Given the description of an element on the screen output the (x, y) to click on. 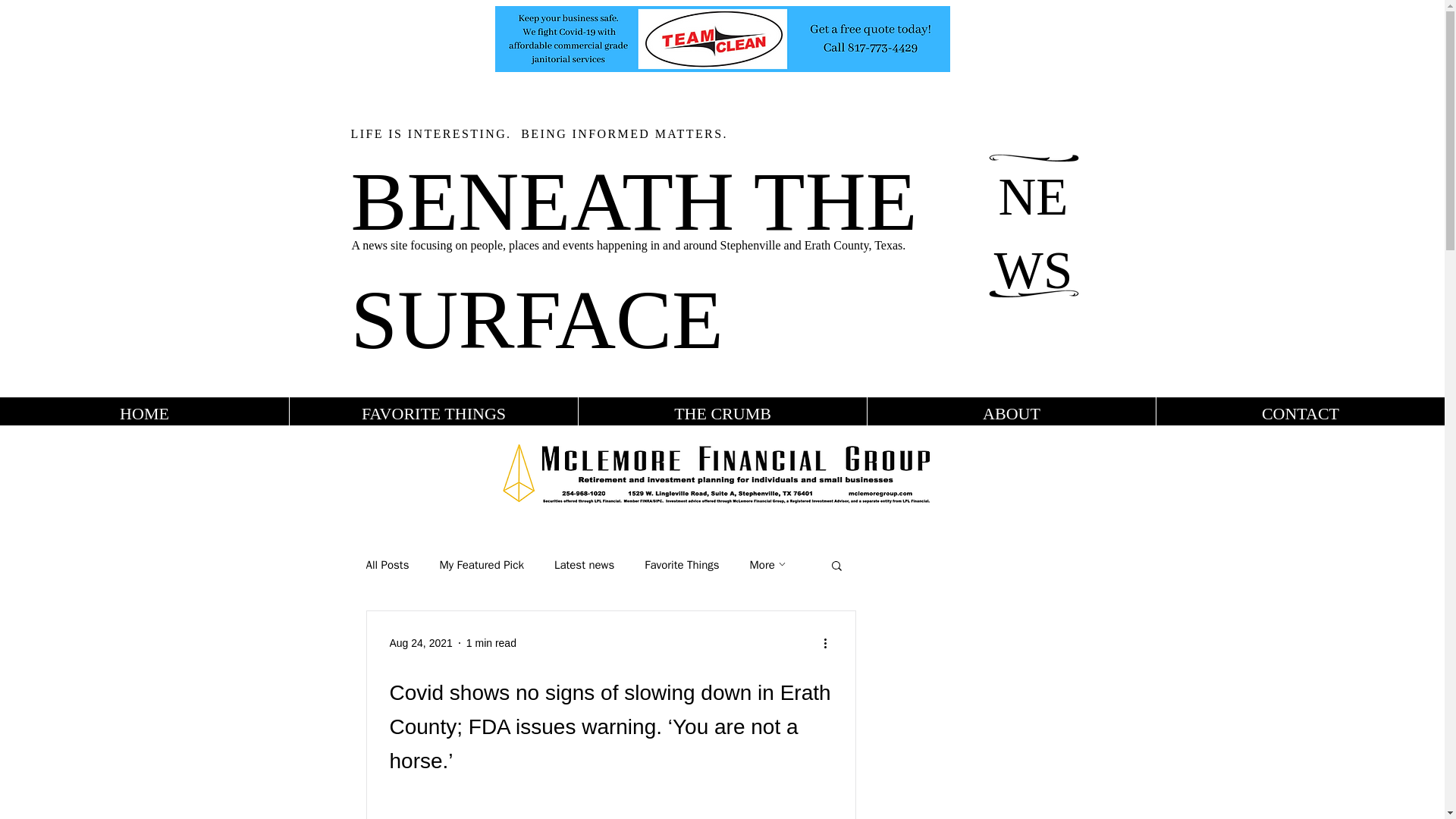
THE CRUMB (722, 413)
FAVORITE THINGS (433, 413)
Latest news (584, 564)
All Posts (387, 564)
1 min read (490, 643)
ABOUT (1011, 413)
My Featured Pick (480, 564)
Aug 24, 2021 (421, 643)
BENEATH THE SURFACE (633, 259)
Favorite Things (682, 564)
